Given the description of an element on the screen output the (x, y) to click on. 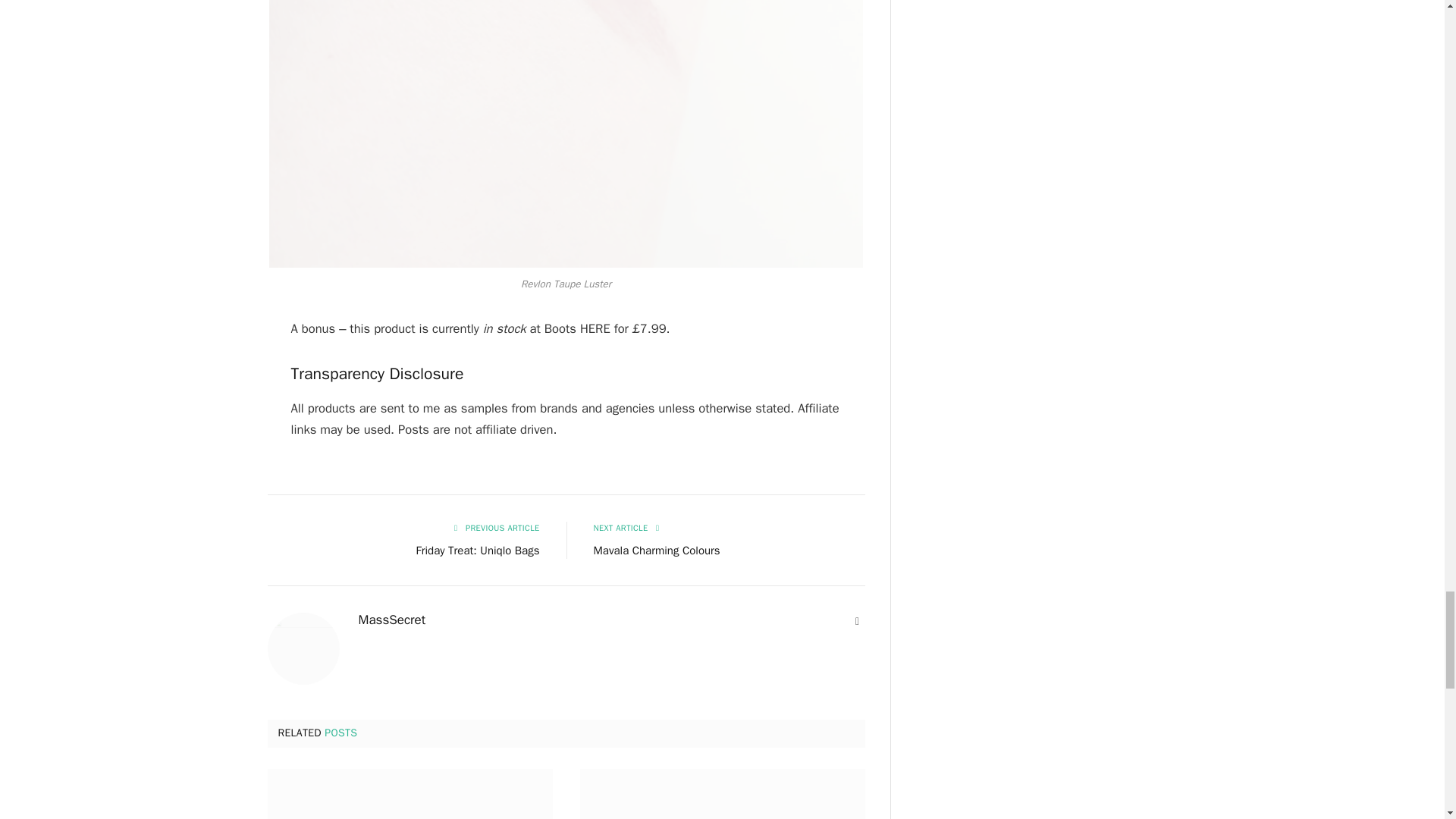
MassSecret (391, 620)
Website (856, 621)
Mavala Charming Colours (655, 550)
Posts by MassSecret (391, 620)
Friday Treat: Uniqlo Bags (478, 550)
